Given the description of an element on the screen output the (x, y) to click on. 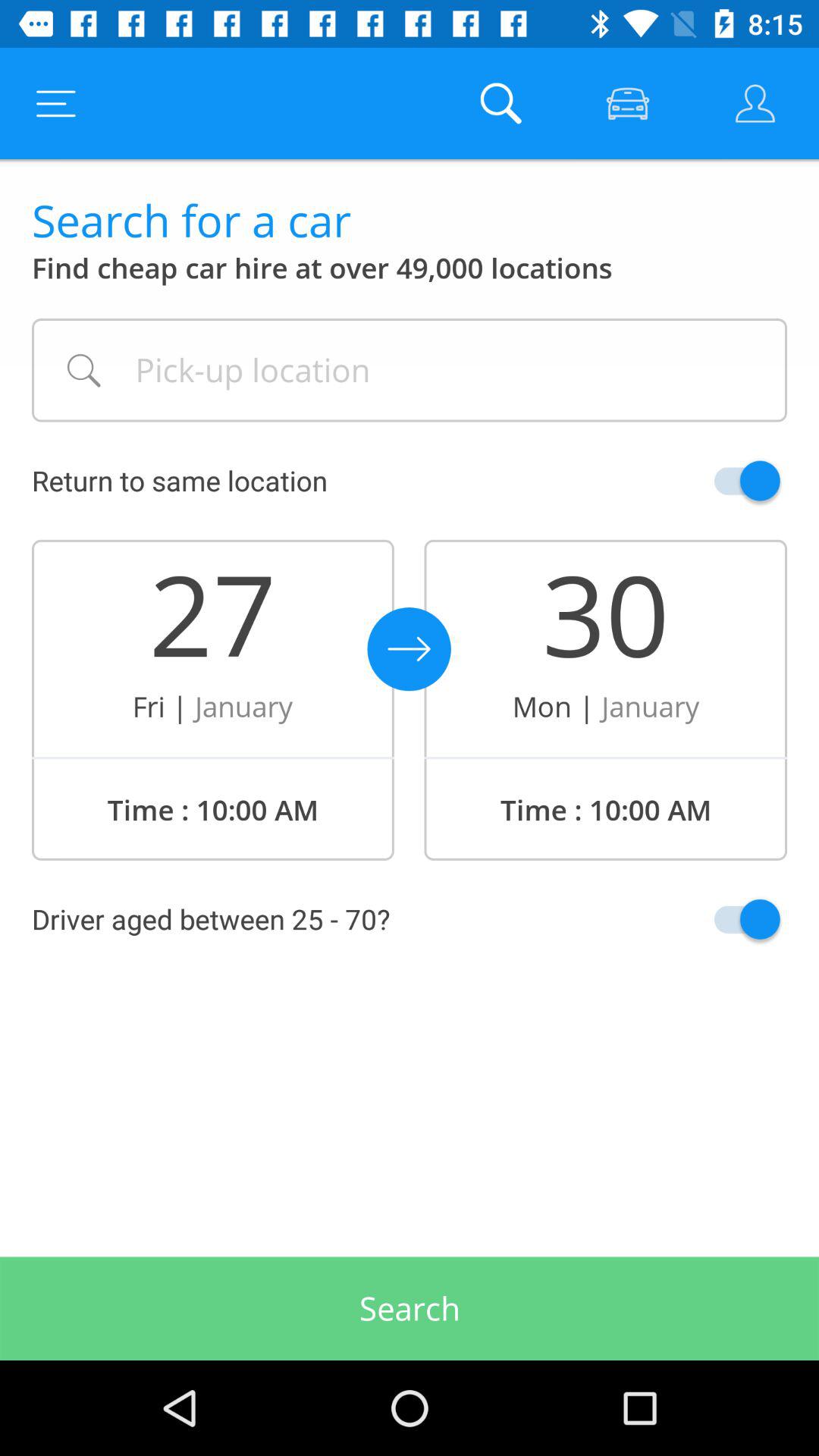
switch return to same location option (711, 480)
